Given the description of an element on the screen output the (x, y) to click on. 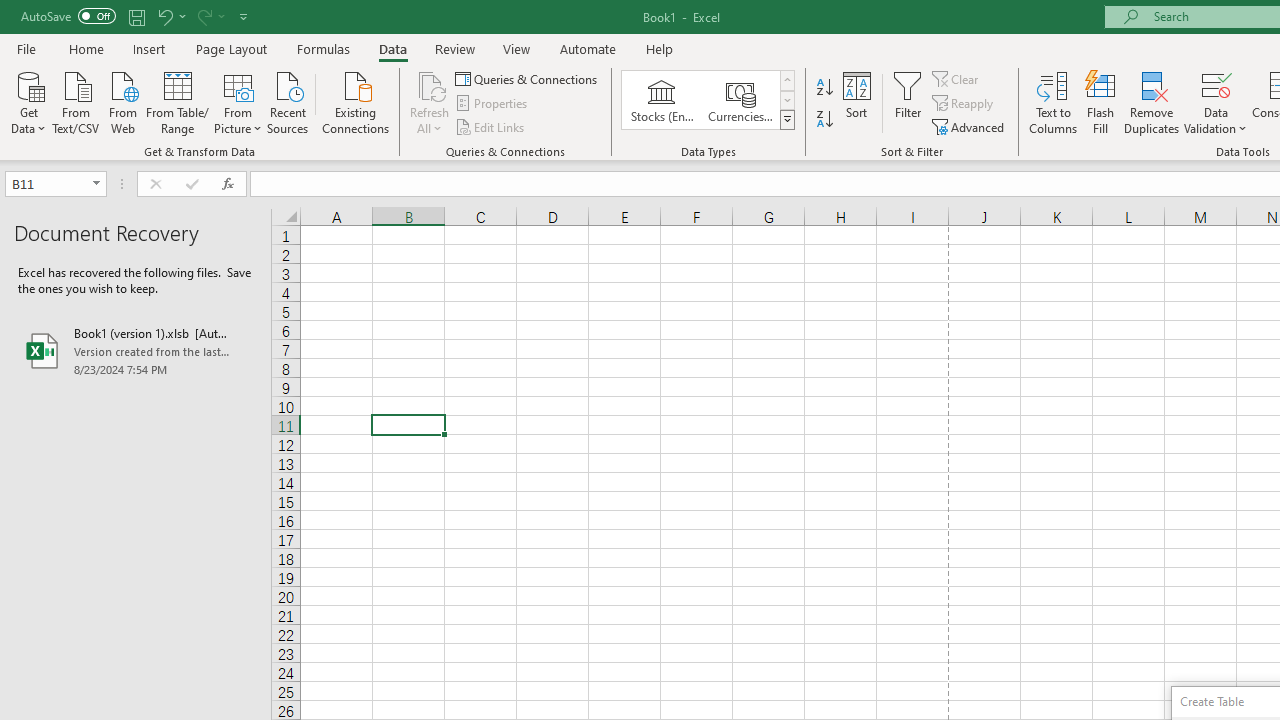
Row up (786, 79)
From Text/CSV (75, 101)
Clear (957, 78)
Queries & Connections (527, 78)
From Table/Range (177, 101)
Reapply (964, 103)
Advanced... (970, 126)
AutoSave (68, 16)
